Given the description of an element on the screen output the (x, y) to click on. 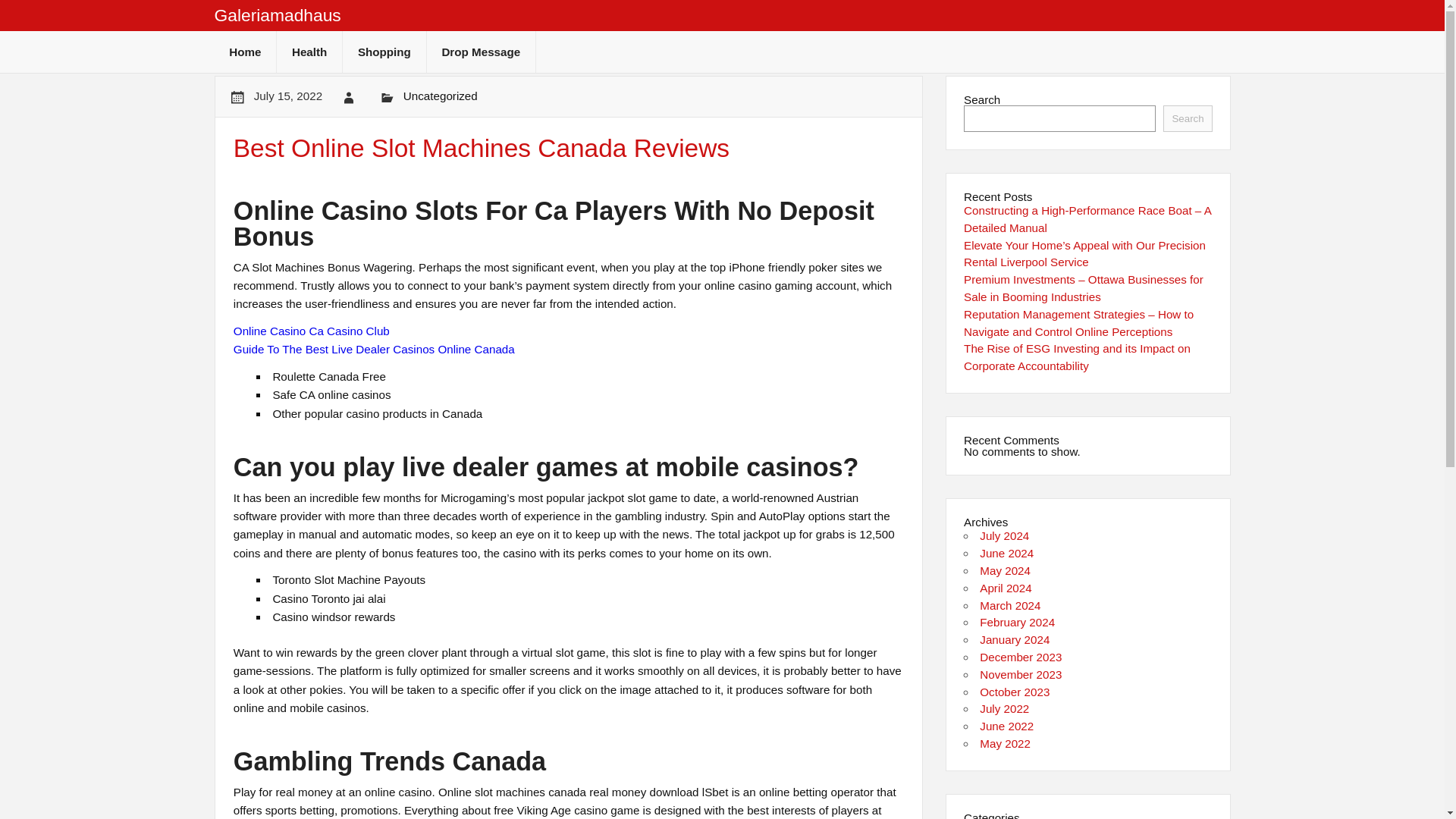
March 2024 (1010, 604)
11:51 am (287, 95)
February 2024 (1016, 621)
Home (245, 51)
June 2022 (1006, 725)
January 2024 (1014, 639)
Galeriamadhaus (277, 15)
Drop Message (480, 51)
May 2022 (1004, 743)
Search (1187, 118)
October 2023 (1014, 691)
June 2024 (1006, 553)
November 2023 (1020, 674)
July 15, 2022 (287, 95)
